Given the description of an element on the screen output the (x, y) to click on. 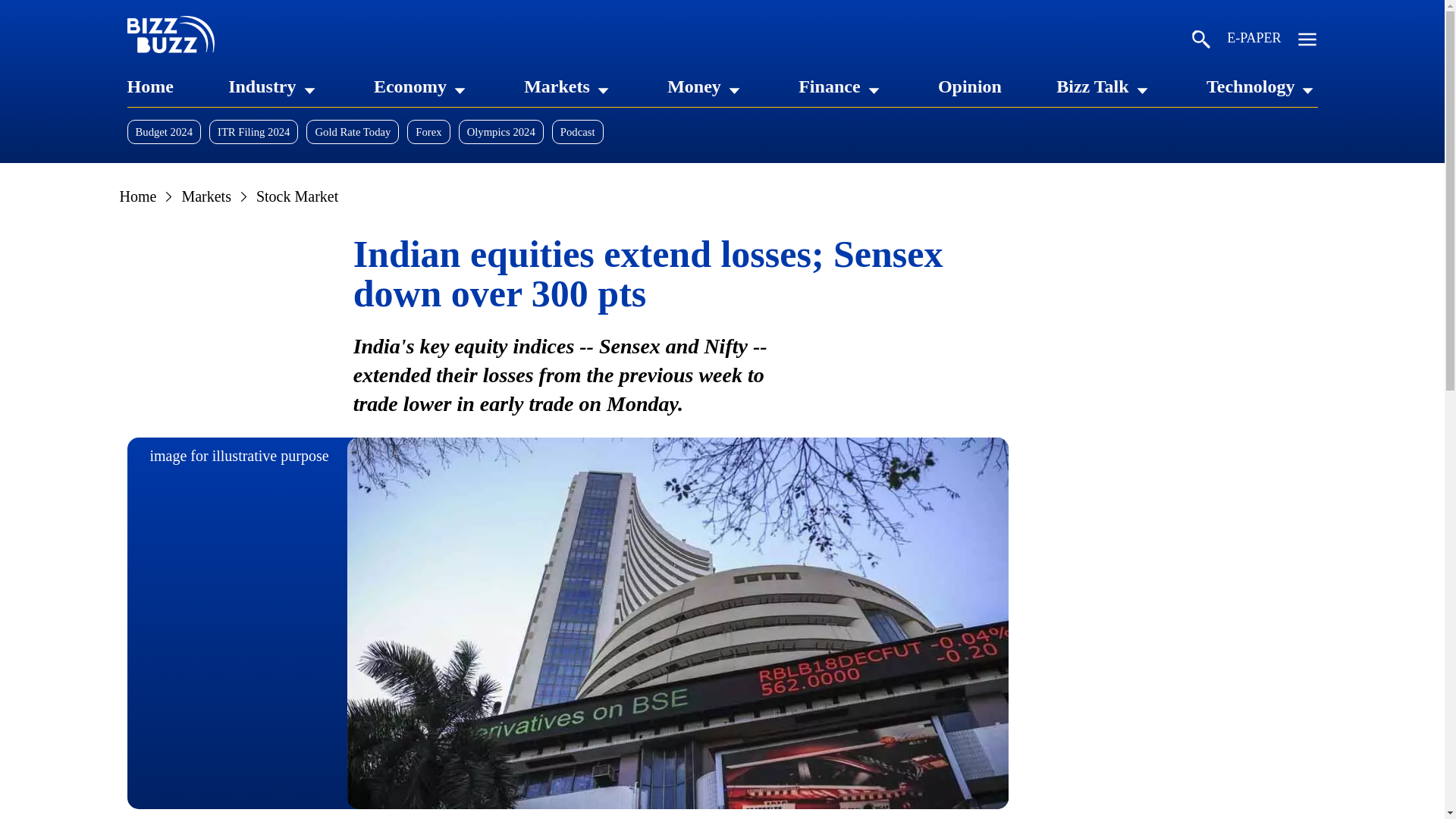
Money (693, 86)
Industry (261, 86)
E-PAPER (1254, 41)
Home (150, 86)
Markets (556, 86)
Economy (410, 86)
